Given the description of an element on the screen output the (x, y) to click on. 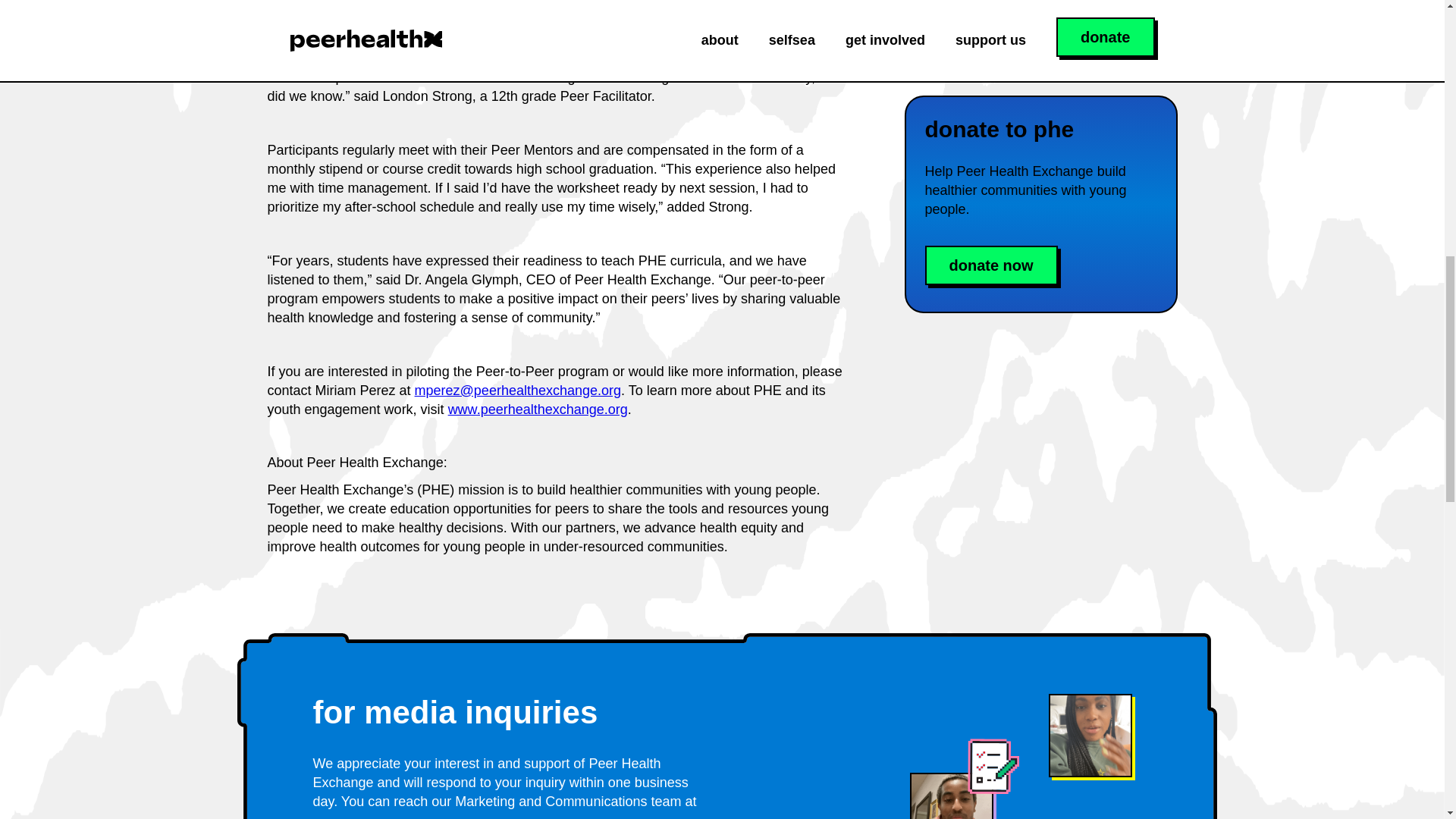
www.peerhealthexchange.org (537, 409)
donate now (991, 265)
explore (975, 28)
